Given the description of an element on the screen output the (x, y) to click on. 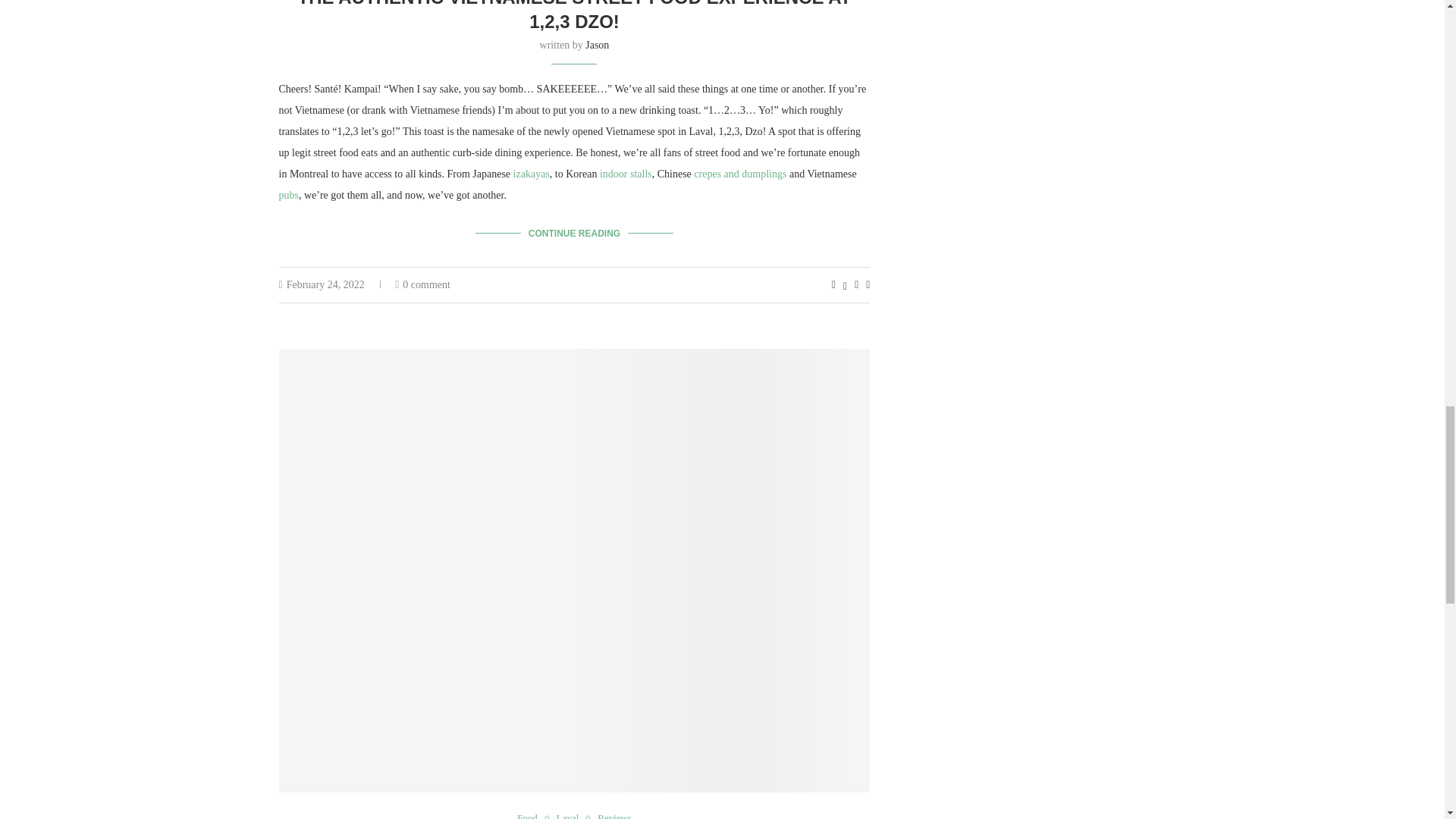
Jason (596, 44)
izakayas (531, 173)
indoor stalls (625, 173)
crepes and dumplings (740, 173)
pubs (288, 194)
